Given the description of an element on the screen output the (x, y) to click on. 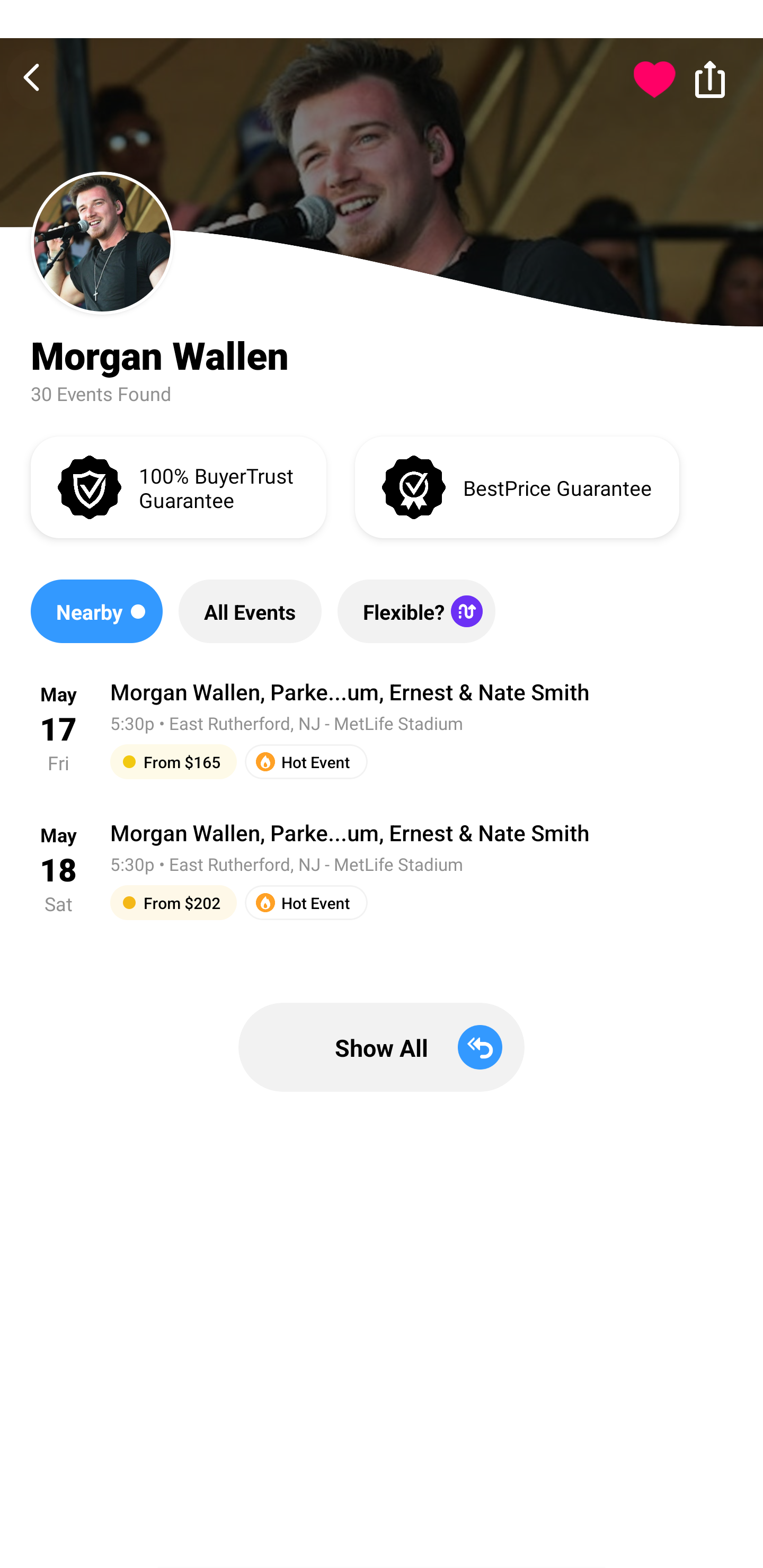
100% BuyerTrust Guarantee (178, 486)
BestPrice Guarantee (516, 486)
Nearby (96, 611)
All Events (249, 611)
Flexible? (416, 611)
Show All (381, 1047)
